Given the description of an element on the screen output the (x, y) to click on. 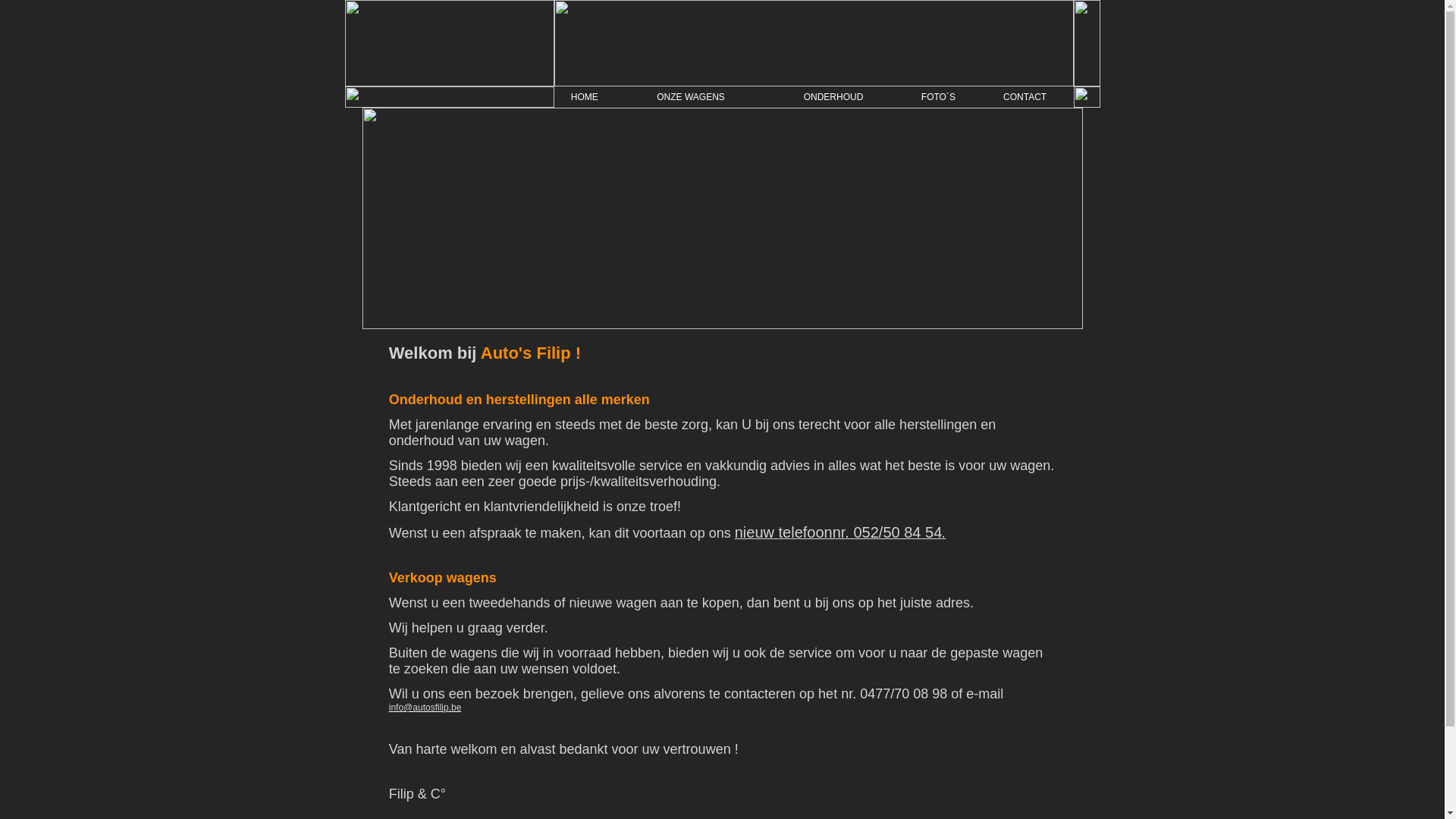
ONDERHOUD Element type: text (833, 96)
info@autosfilip.be Element type: text (425, 707)
CONTACT Element type: text (1024, 96)
ONZE WAGENS Element type: text (690, 96)
HOME Element type: text (584, 96)
